Given the description of an element on the screen output the (x, y) to click on. 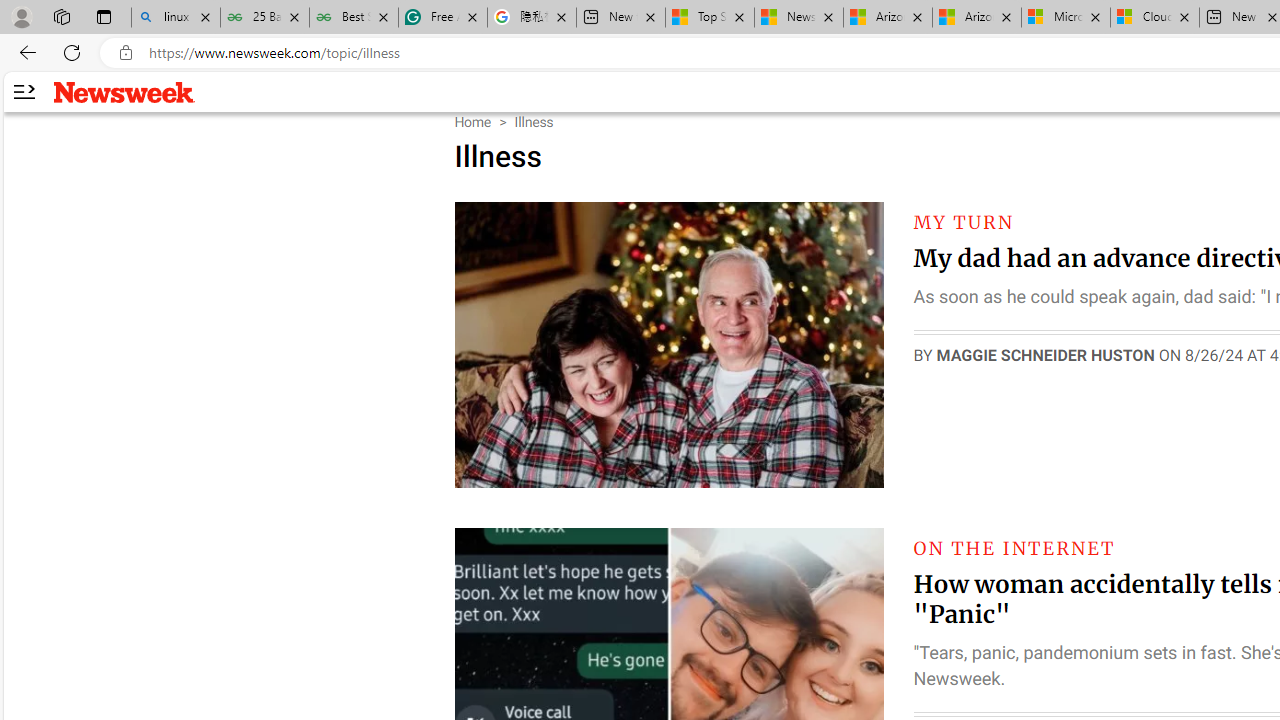
Newsweek logo (123, 91)
Cloud Computing Services | Microsoft Azure (1155, 17)
ON THE INTERNET (1014, 548)
AutomationID: side-arrow (23, 92)
News - MSN (799, 17)
Best SSL Certificates Provider in India - GeeksforGeeks (353, 17)
